Given the description of an element on the screen output the (x, y) to click on. 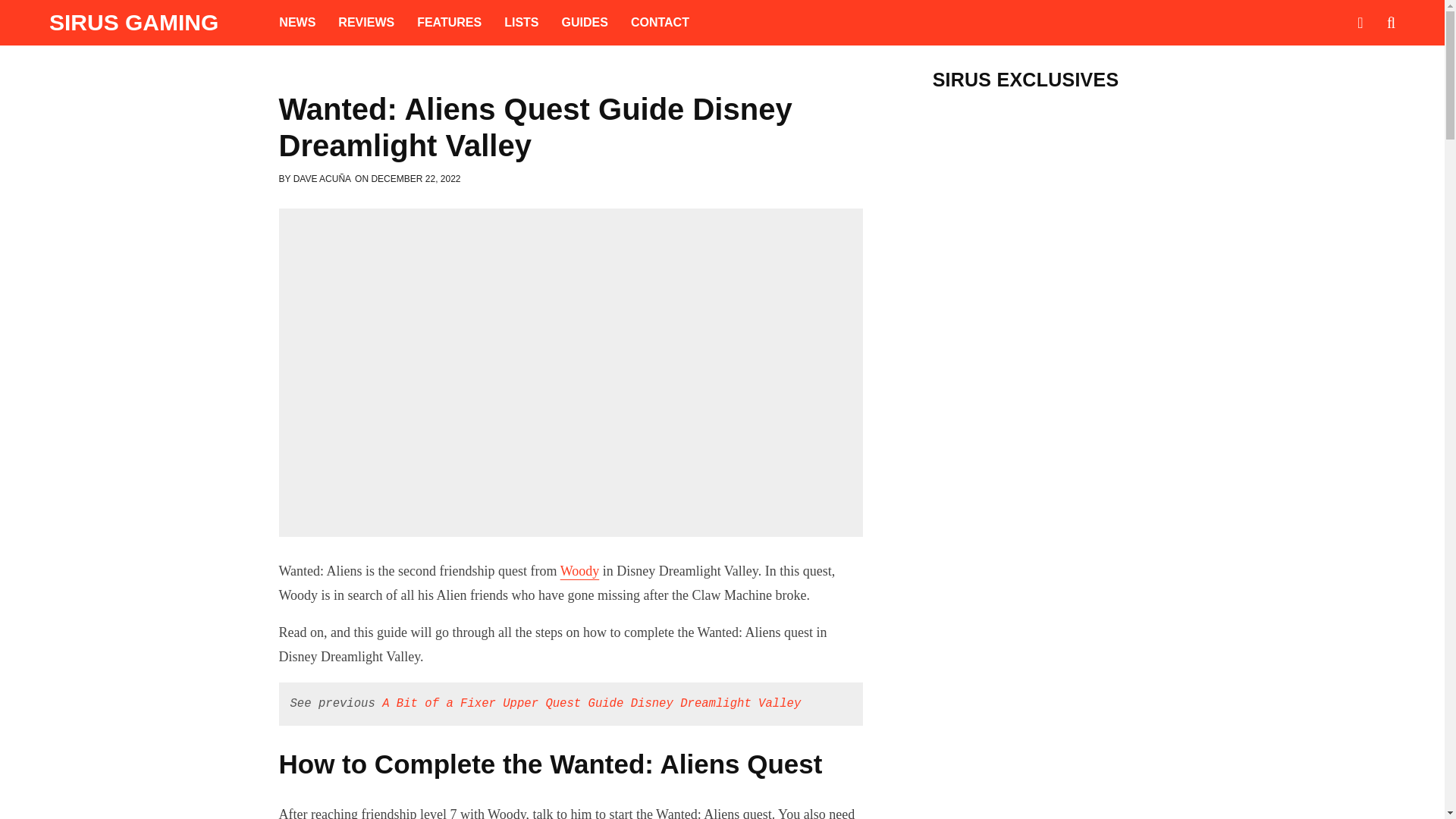
GUIDES (585, 22)
SIRUS GAMING (133, 22)
LISTS (521, 22)
FEATURES (449, 22)
REVIEWS (366, 22)
CONTACT (660, 22)
NEWS (296, 22)
Woody (579, 570)
A Bit of a Fixer Upper Quest Guide Disney Dreamlight Valley (590, 703)
